Given the description of an element on the screen output the (x, y) to click on. 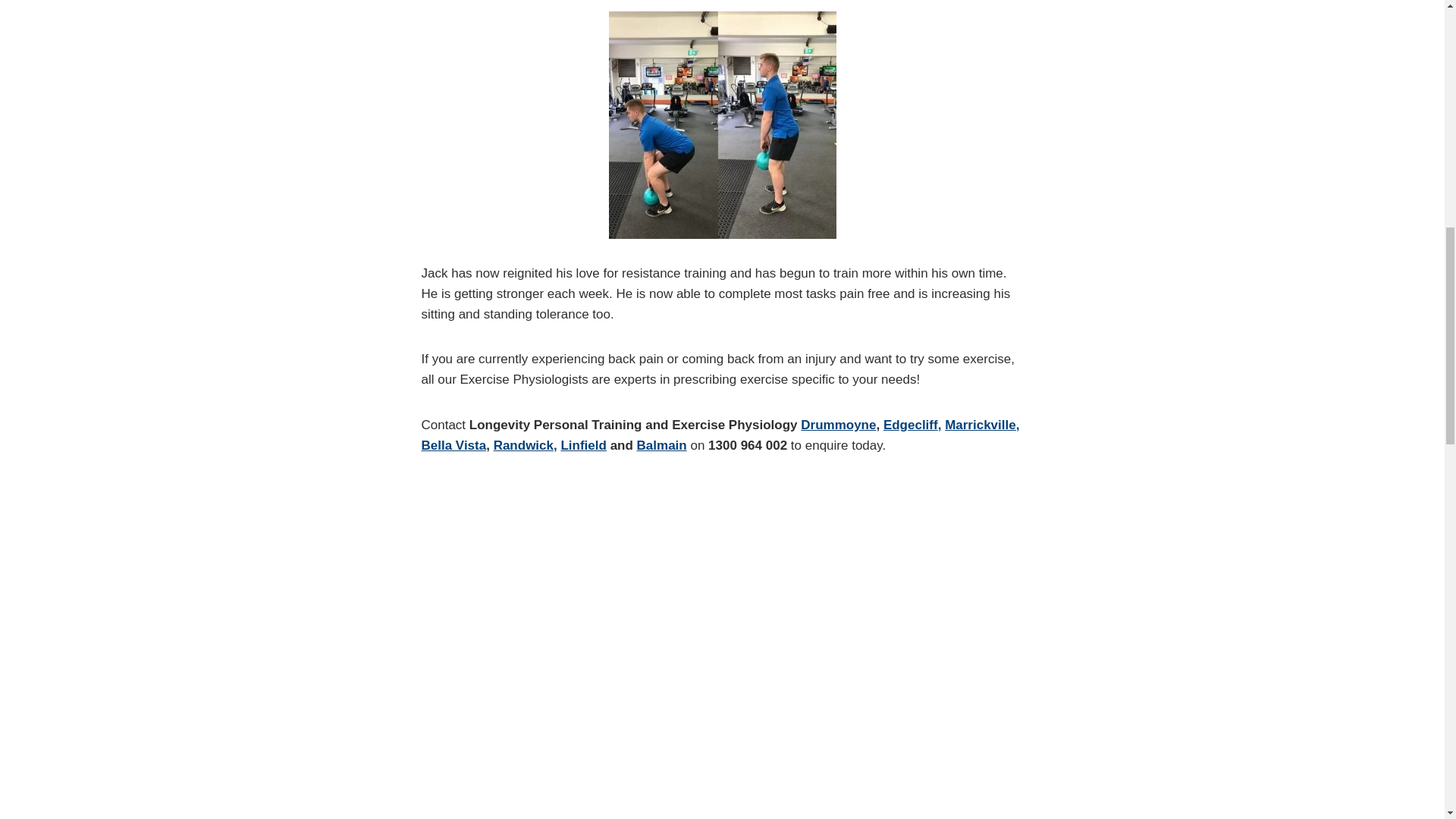
Linfield (582, 445)
Randwick, (525, 445)
Edgecliff, (912, 424)
Drummoyne (838, 424)
Marrickville, (981, 424)
Bella Vista (454, 445)
